Given the description of an element on the screen output the (x, y) to click on. 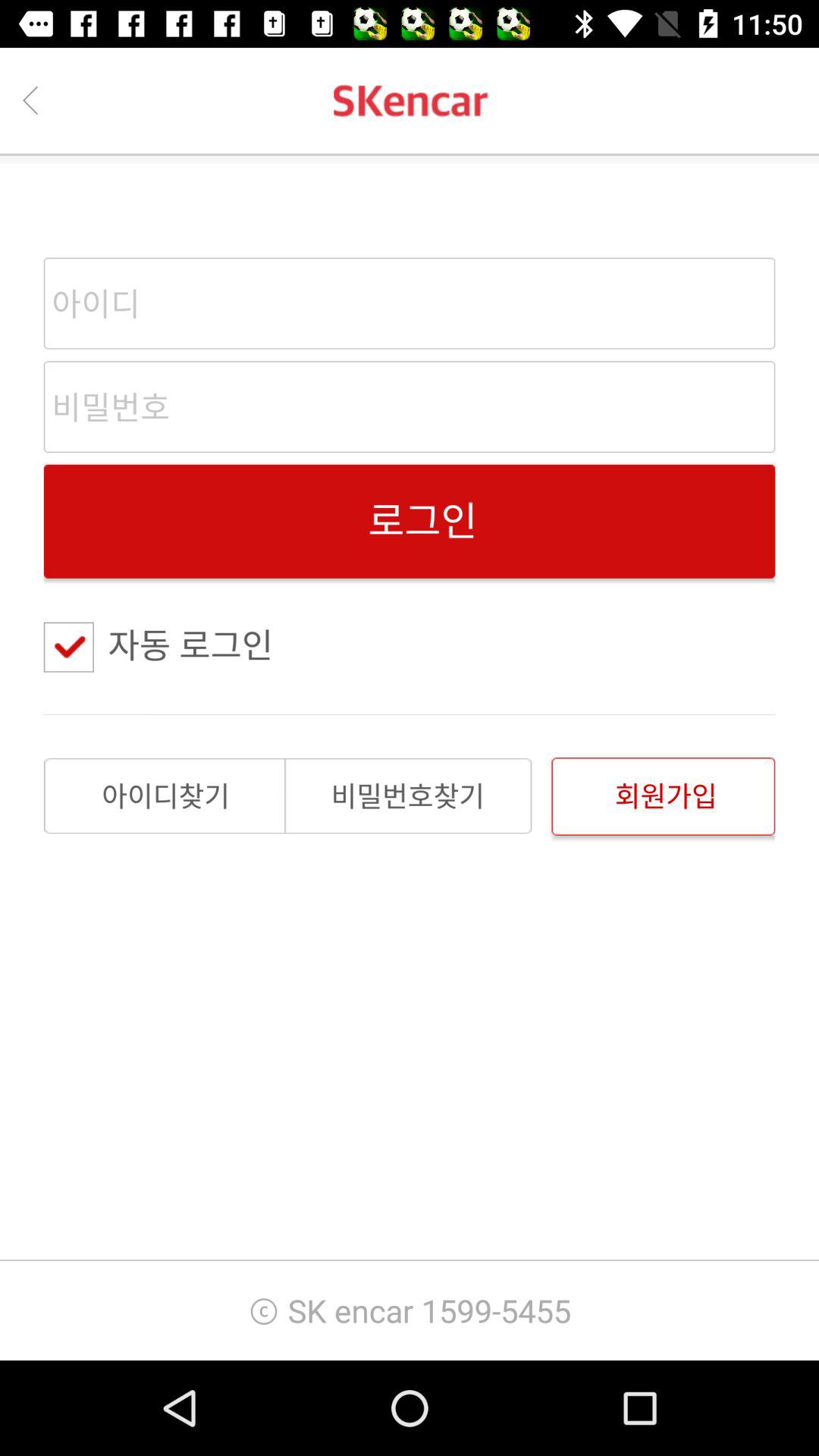
click the back button from the top left (29, 100)
